Given the description of an element on the screen output the (x, y) to click on. 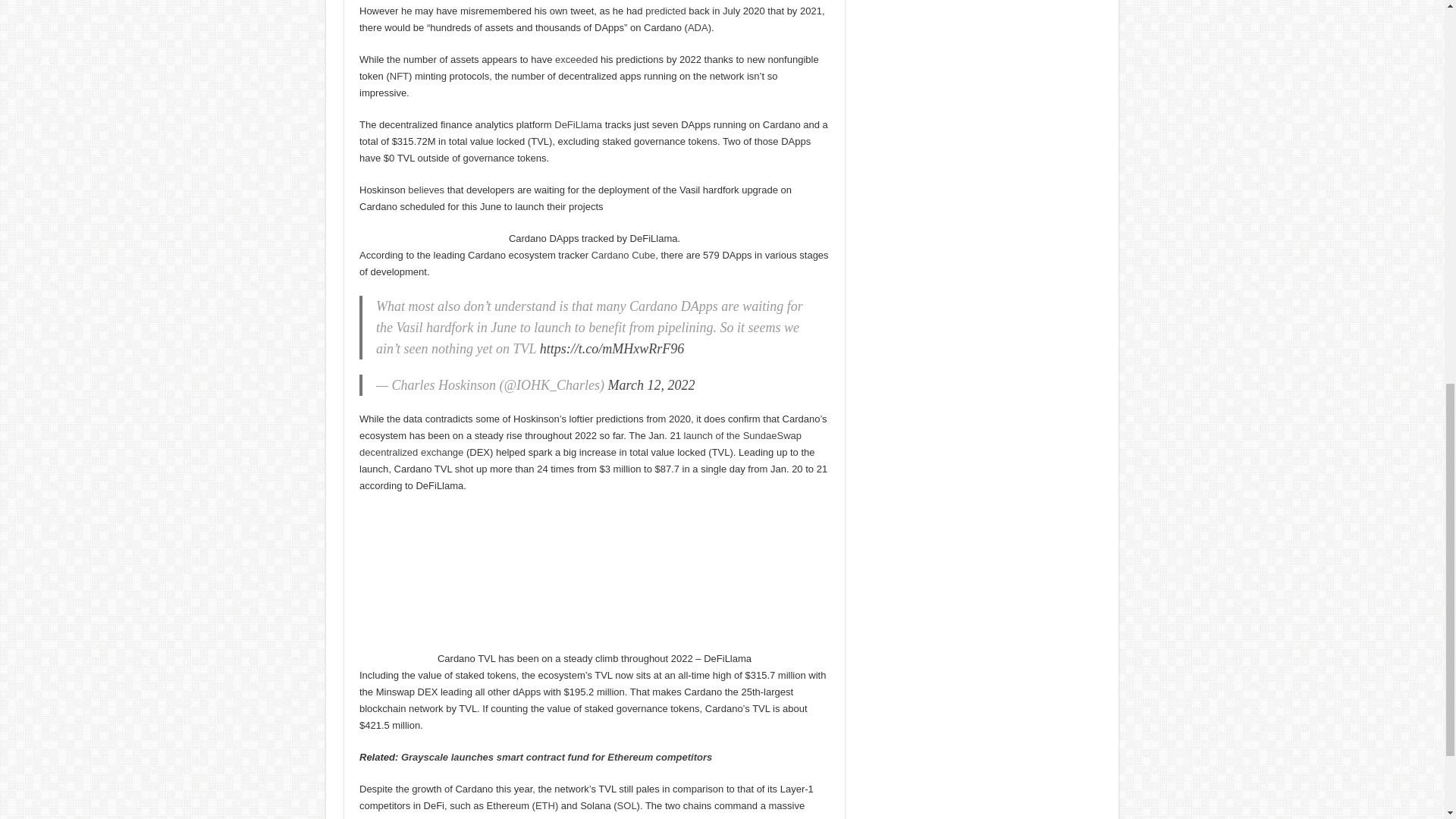
predicted (665, 10)
Cardano Cube (623, 255)
ADA (697, 27)
believes (425, 189)
NFT (399, 75)
DeFiLlama (578, 124)
exceeded (575, 59)
